Given the description of an element on the screen output the (x, y) to click on. 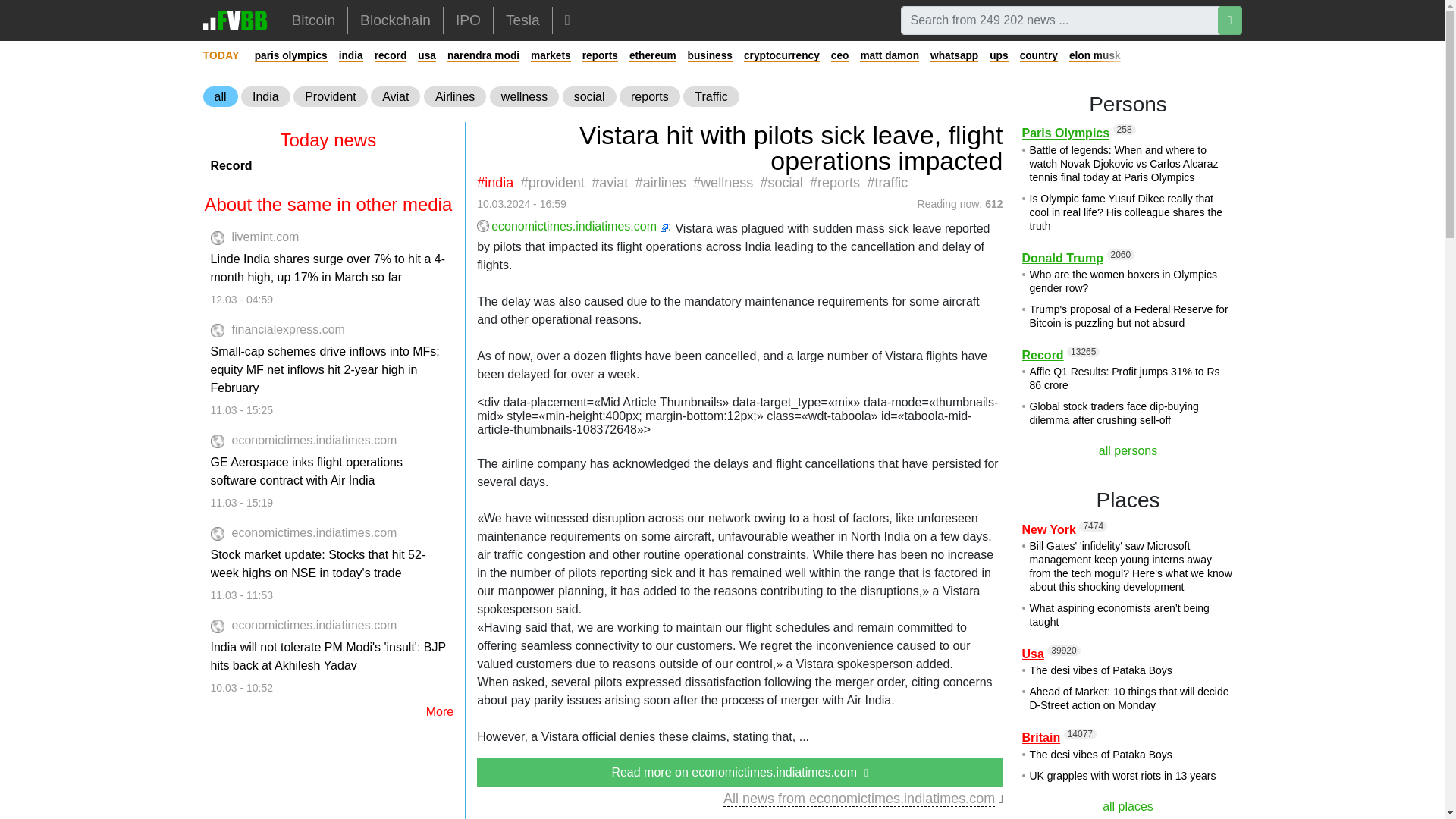
IPO (468, 19)
More (567, 19)
IPO (468, 19)
Blockchain (394, 19)
Tesla (522, 19)
Bitcoin (313, 19)
Blockchain (394, 19)
Bitcoin (313, 19)
Tesla (522, 19)
